Given the description of an element on the screen output the (x, y) to click on. 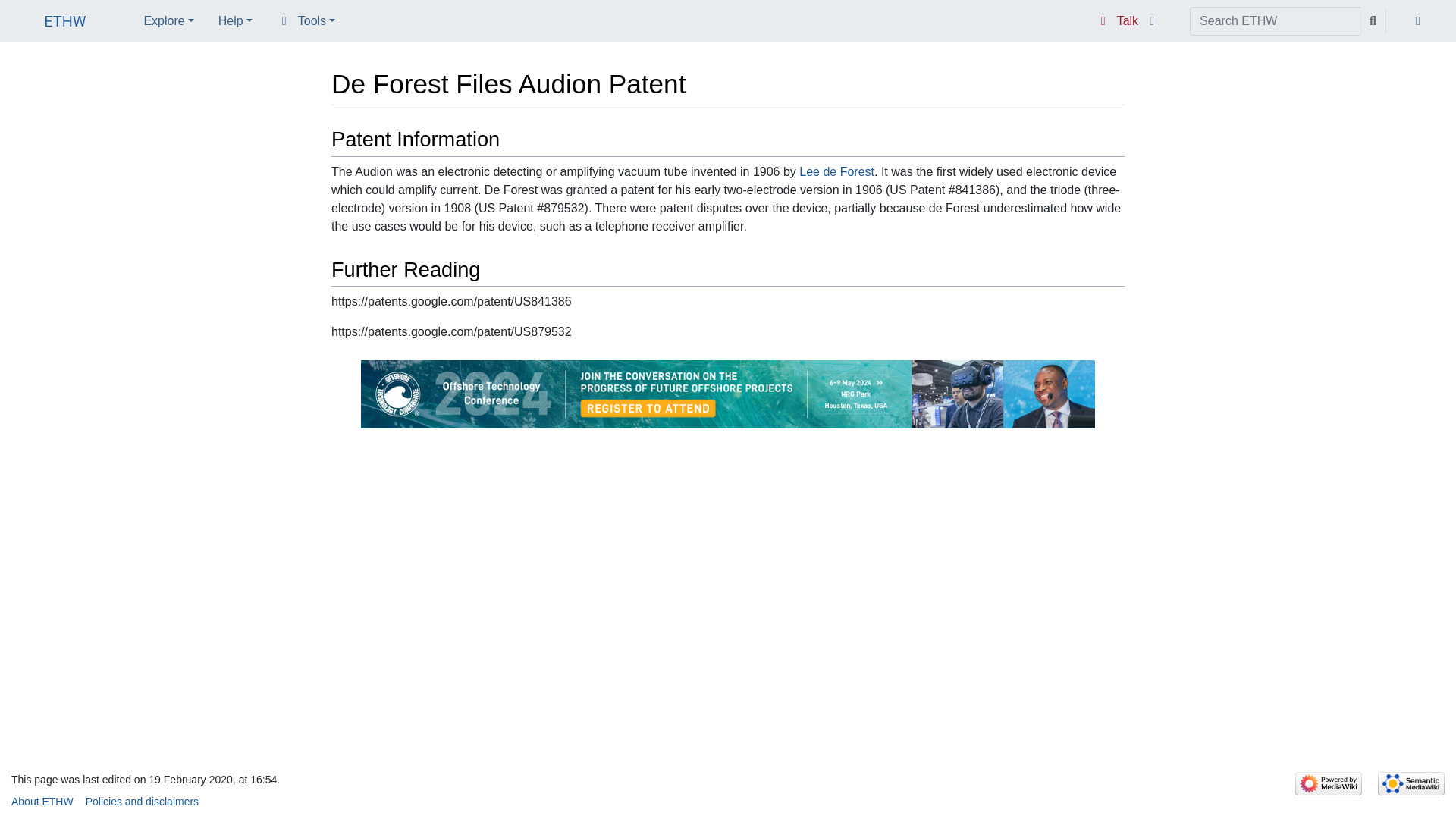
Tools (305, 20)
Explore (168, 20)
Lee de Forest (837, 171)
Go to a page with this exact name if it exists (1372, 21)
Visit the main page (65, 22)
Go (1372, 21)
Help (235, 20)
Talk (1117, 21)
Lee De Forest (837, 171)
